Given the description of an element on the screen output the (x, y) to click on. 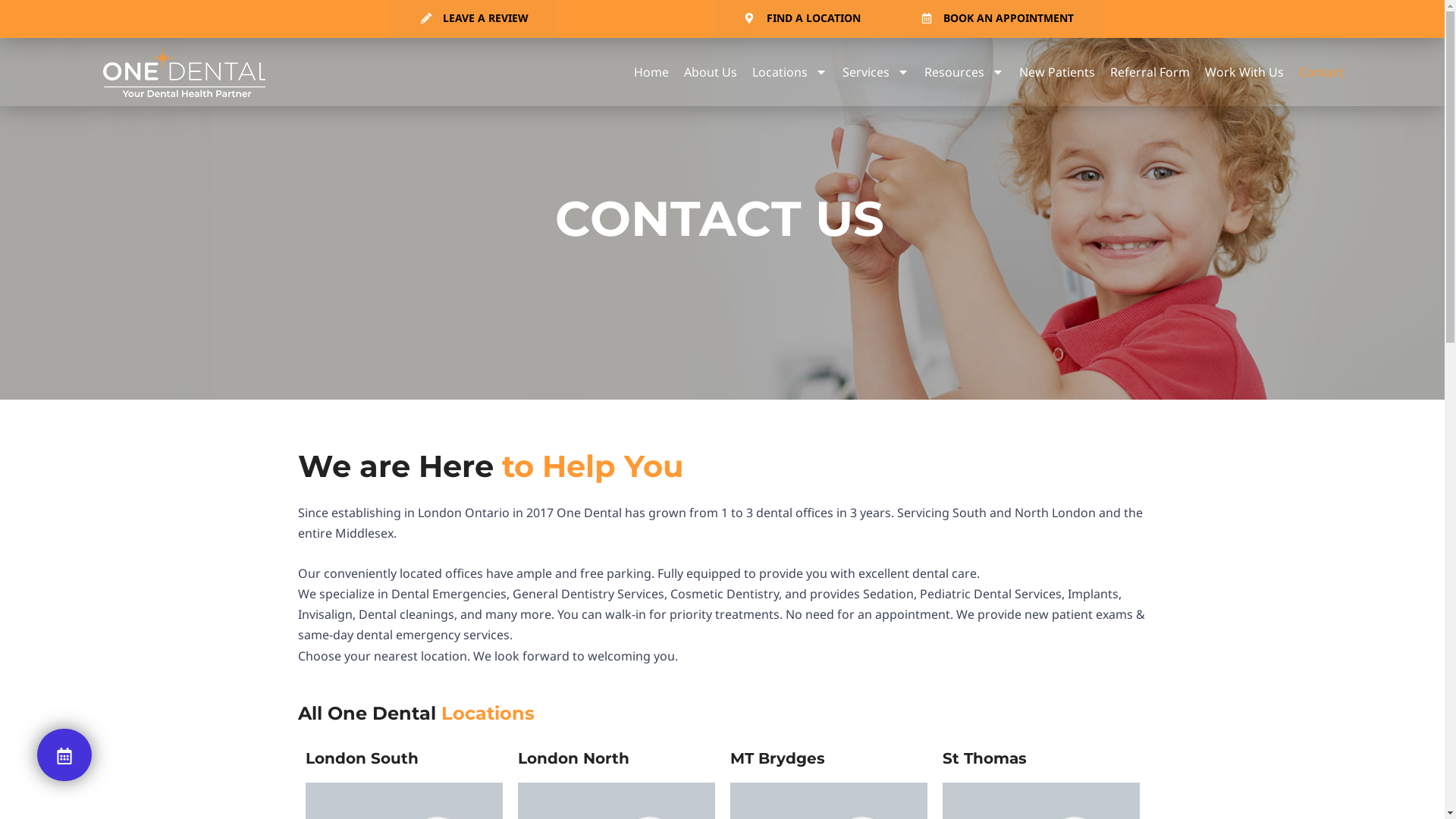
Contact Element type: text (1321, 71)
London South Element type: text (360, 758)
BOOK AN APPOINTMENT Element type: text (997, 18)
Resources Element type: text (964, 71)
LEAVE A REVIEW Element type: text (474, 18)
St Thomas Element type: text (983, 758)
Referral Form Element type: text (1149, 71)
Services Element type: text (875, 71)
Locations Element type: text (789, 71)
Work With Us Element type: text (1243, 71)
Home Element type: text (650, 71)
MT Brydges Element type: text (776, 758)
London North Element type: text (572, 758)
New Patients Element type: text (1057, 71)
FIND A LOCATION Element type: text (802, 18)
About Us Element type: text (710, 71)
